Given the description of an element on the screen output the (x, y) to click on. 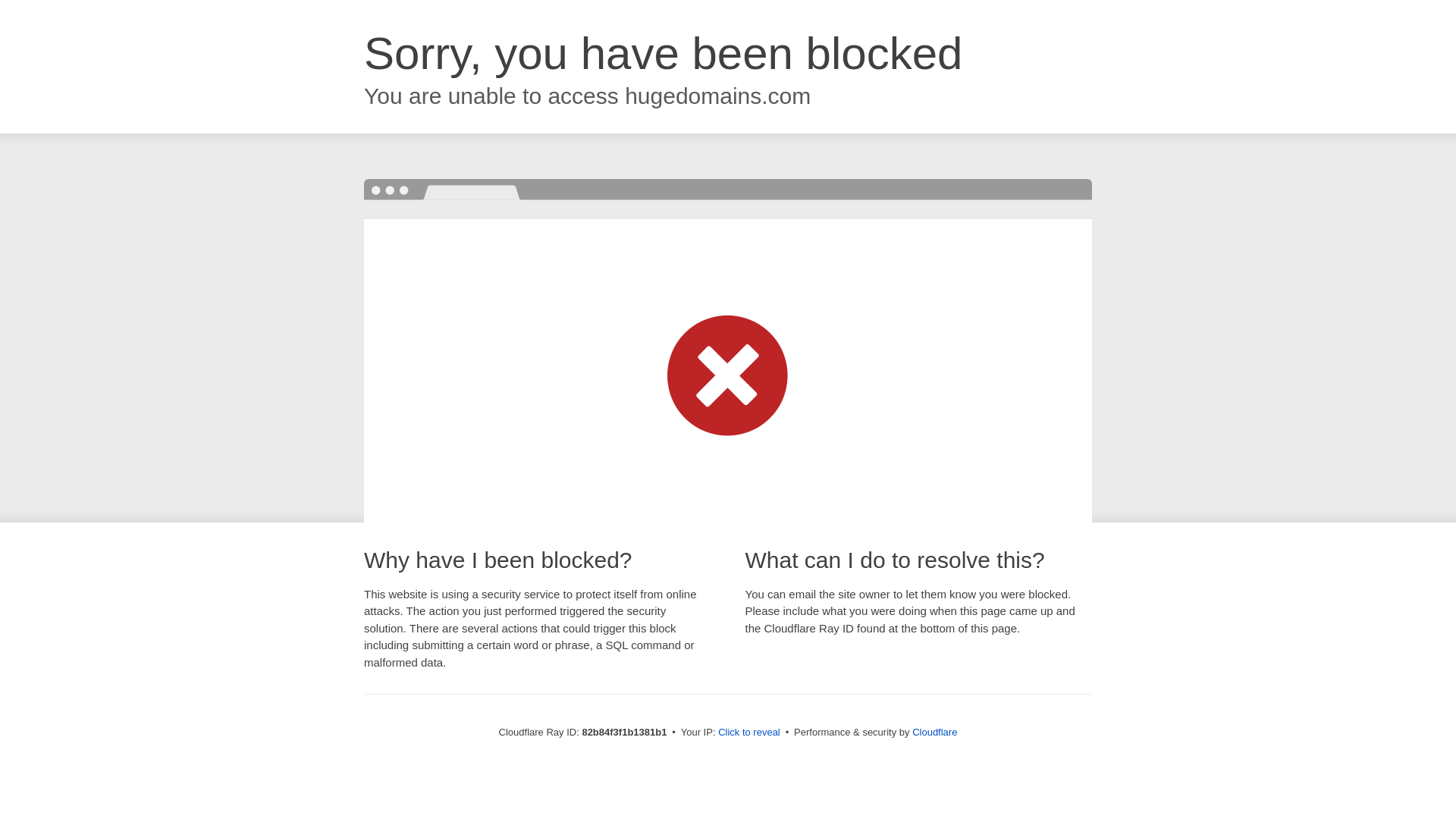
Click to reveal Element type: text (749, 732)
Cloudflare Element type: text (934, 731)
